Given the description of an element on the screen output the (x, y) to click on. 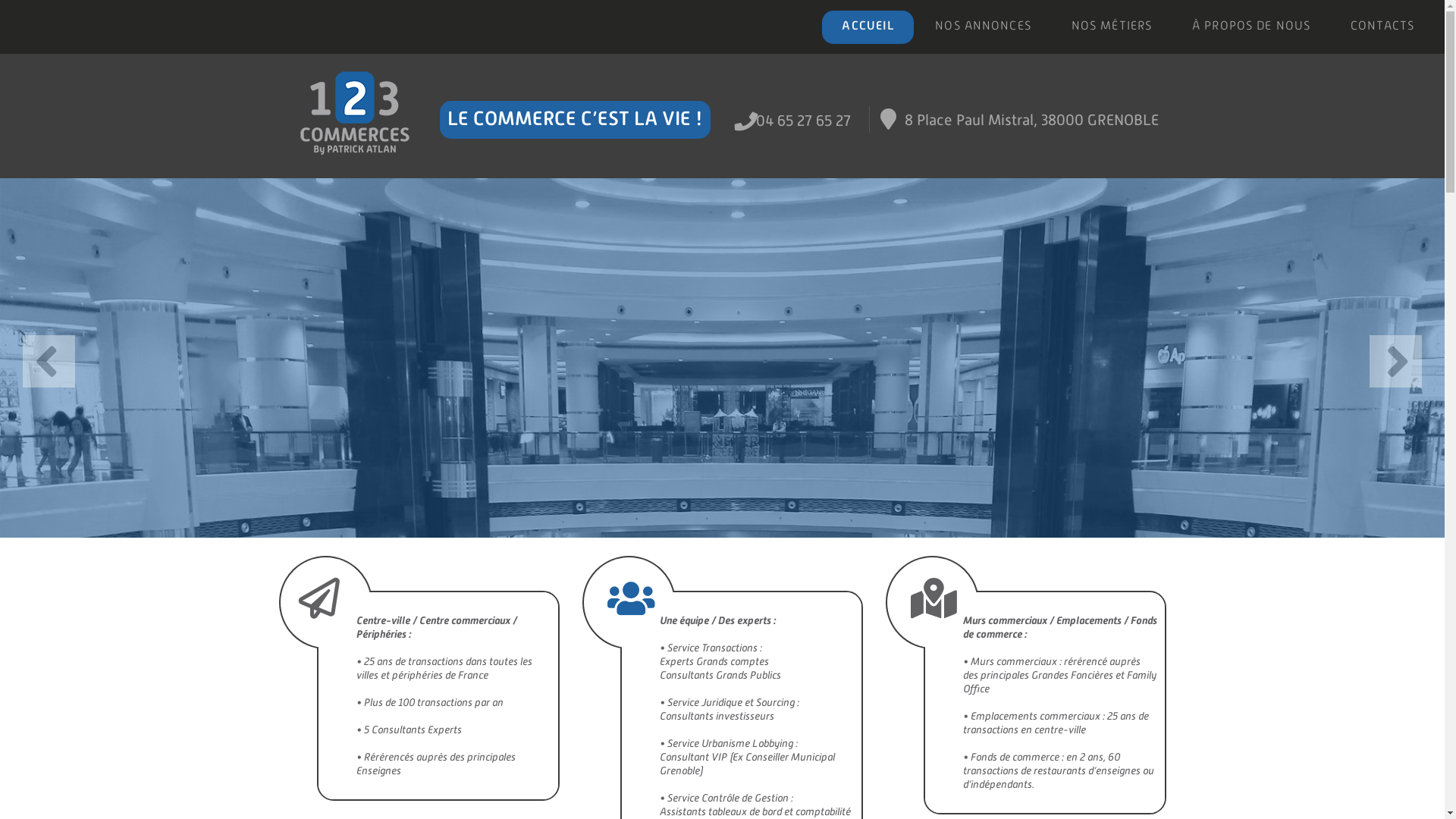
04 65 27 65 27 Element type: text (803, 120)
NOS ANNONCES Element type: text (982, 26)
CONTACTS Element type: text (1381, 26)
ACCUEIL Element type: text (867, 26)
